Given the description of an element on the screen output the (x, y) to click on. 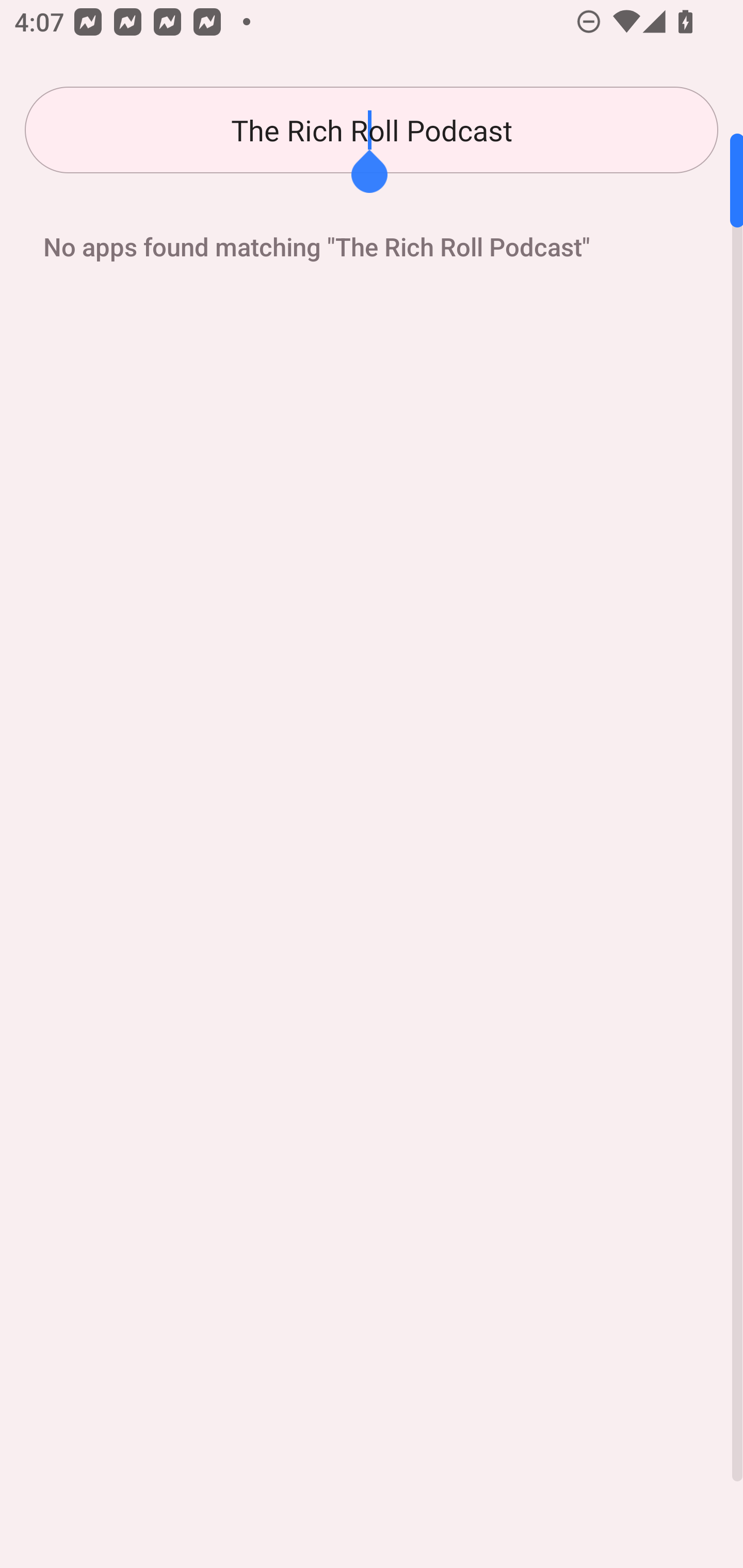
The Rich Roll Podcast (371, 130)
